Given the description of an element on the screen output the (x, y) to click on. 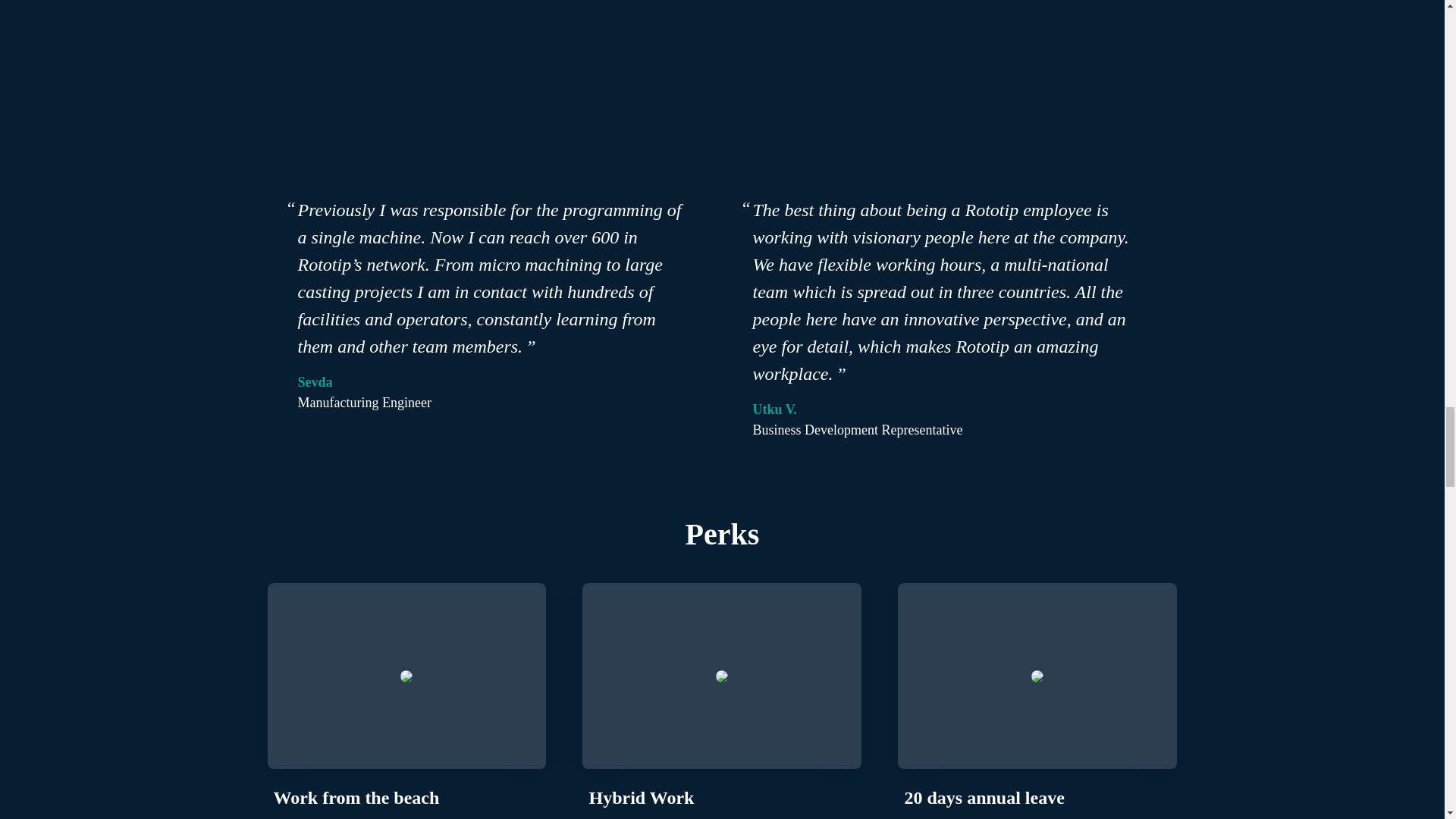
Utku V. (774, 409)
Sevda (314, 381)
